Given the description of an element on the screen output the (x, y) to click on. 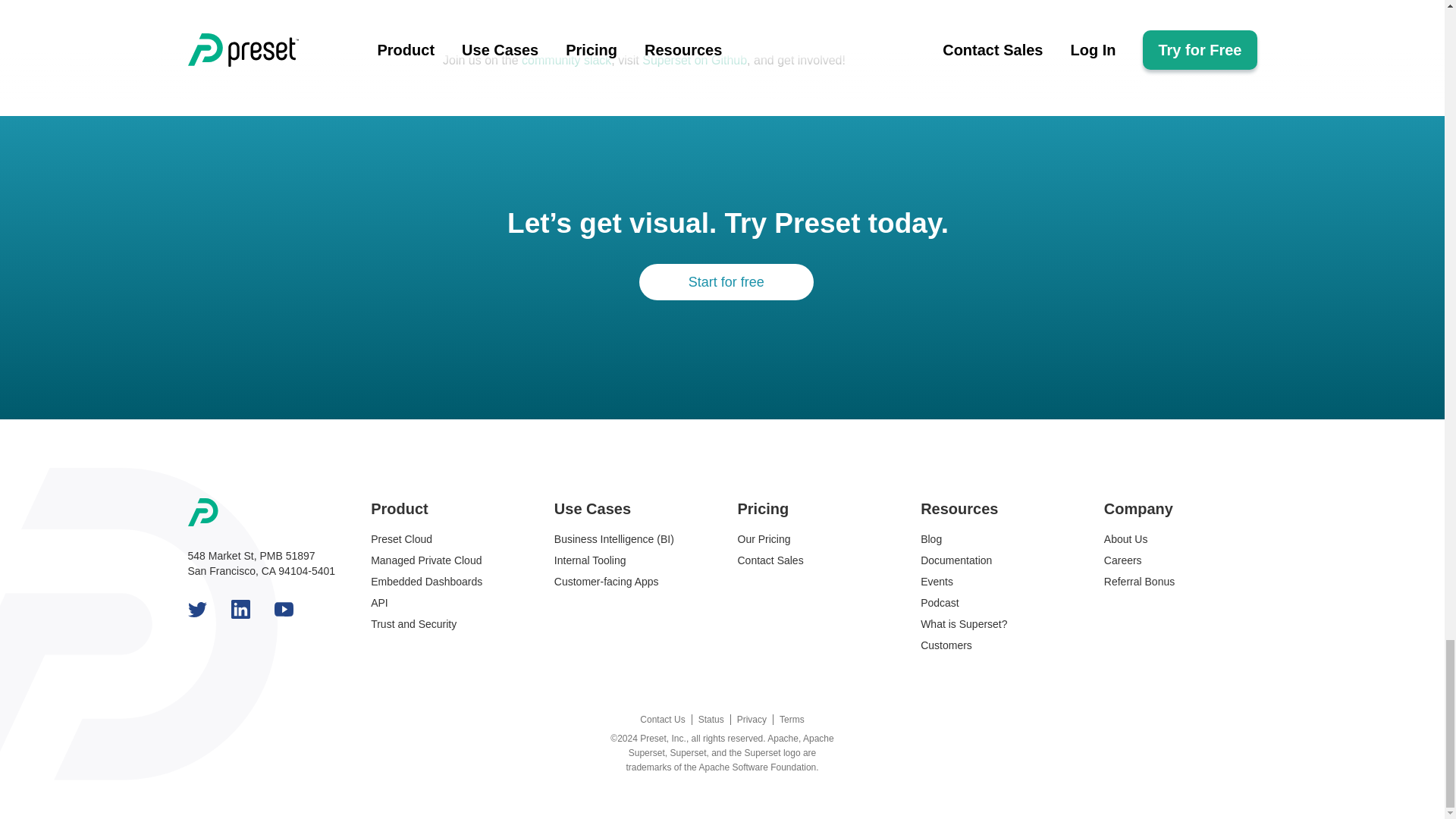
Superset on Github (694, 60)
community slack (566, 60)
Home (263, 512)
Preset Cloud (401, 539)
Start for free (726, 281)
